Given the description of an element on the screen output the (x, y) to click on. 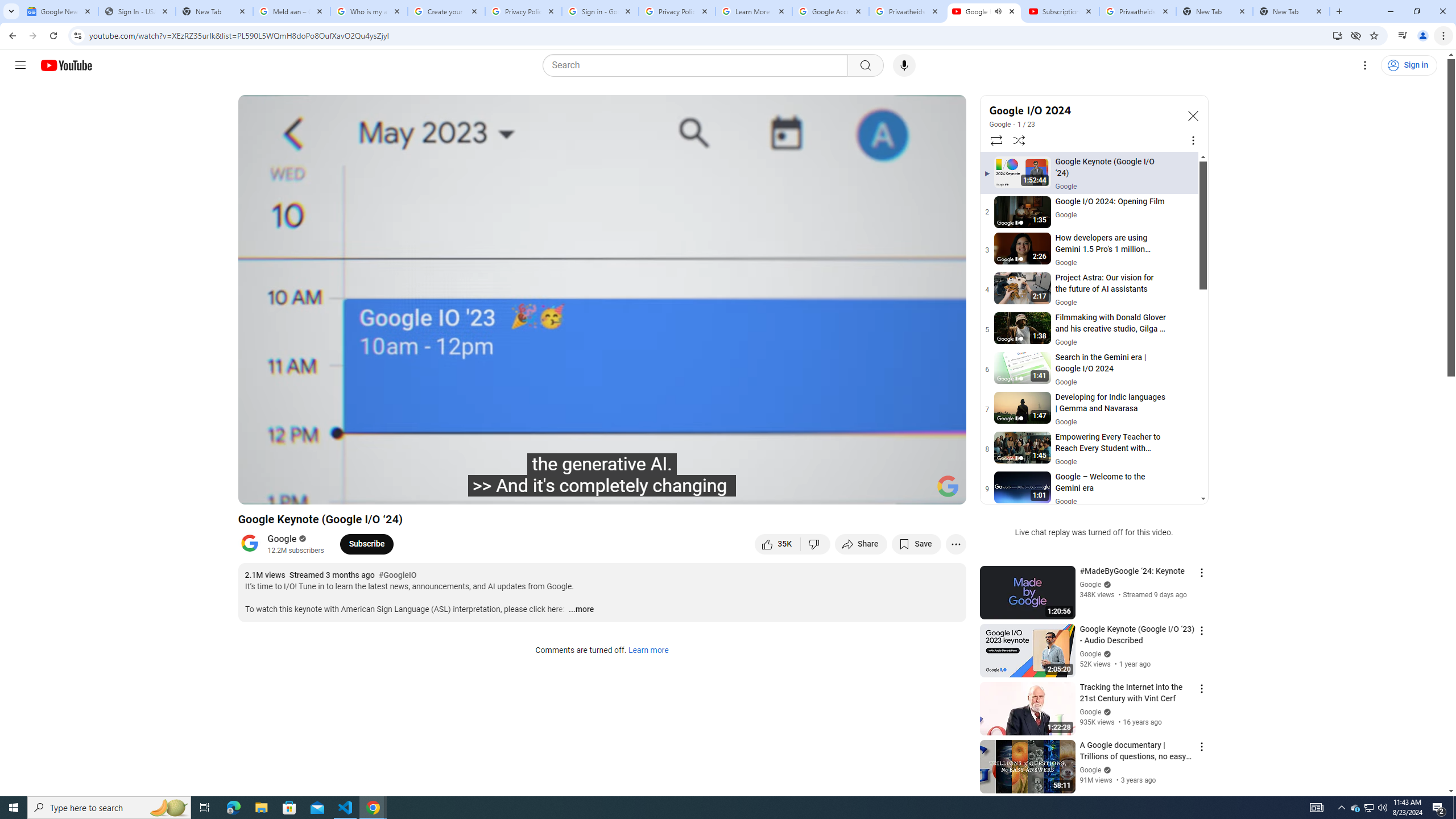
Theater mode (t) (917, 490)
Save to playlist (915, 543)
...more (580, 609)
Opening Film (434, 490)
Google News (59, 11)
